Given the description of an element on the screen output the (x, y) to click on. 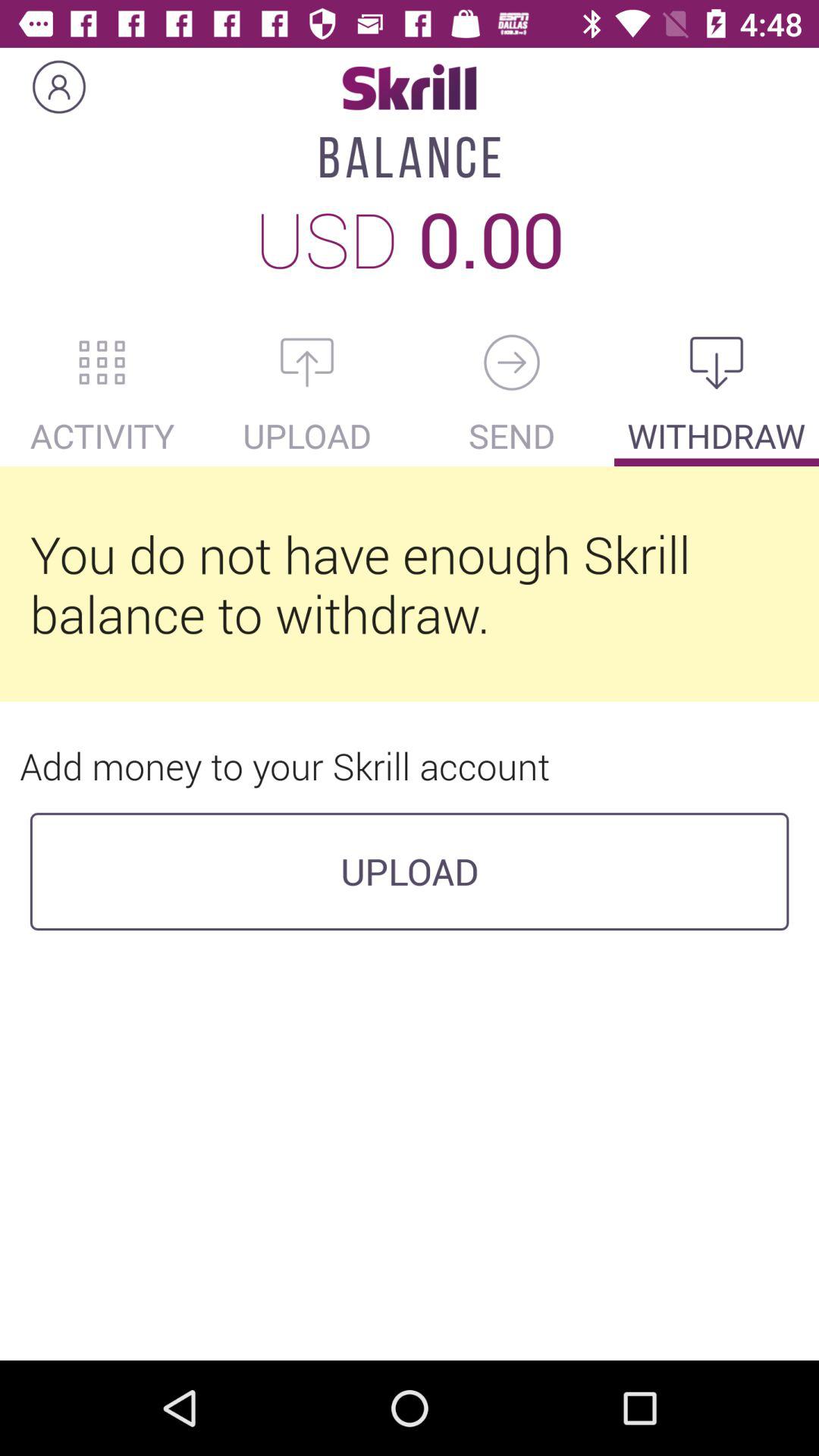
upload (306, 362)
